Given the description of an element on the screen output the (x, y) to click on. 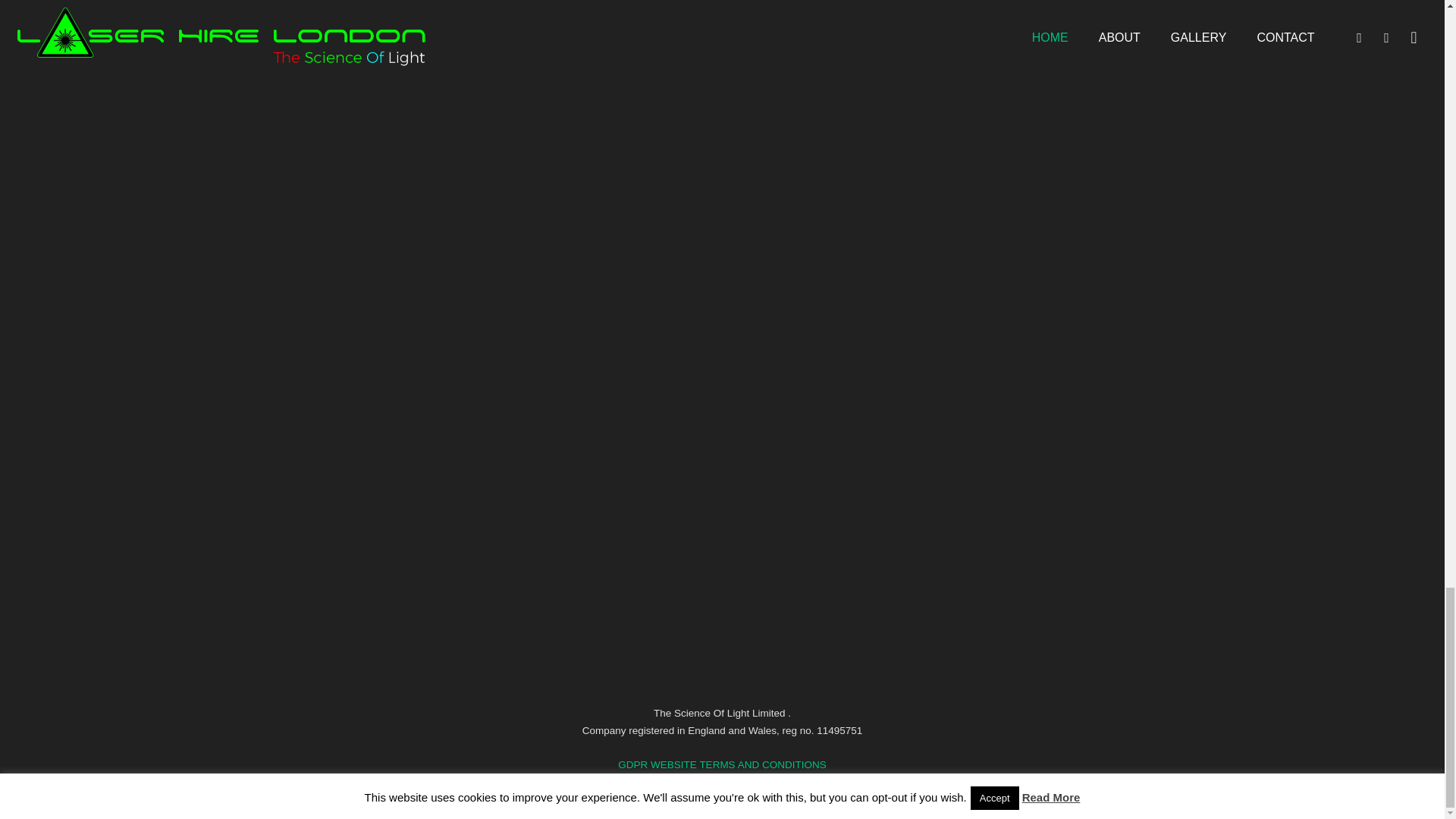
GDPR WEBSITE TERMS AND CONDITIONS (721, 764)
Send (784, 504)
